Given the description of an element on the screen output the (x, y) to click on. 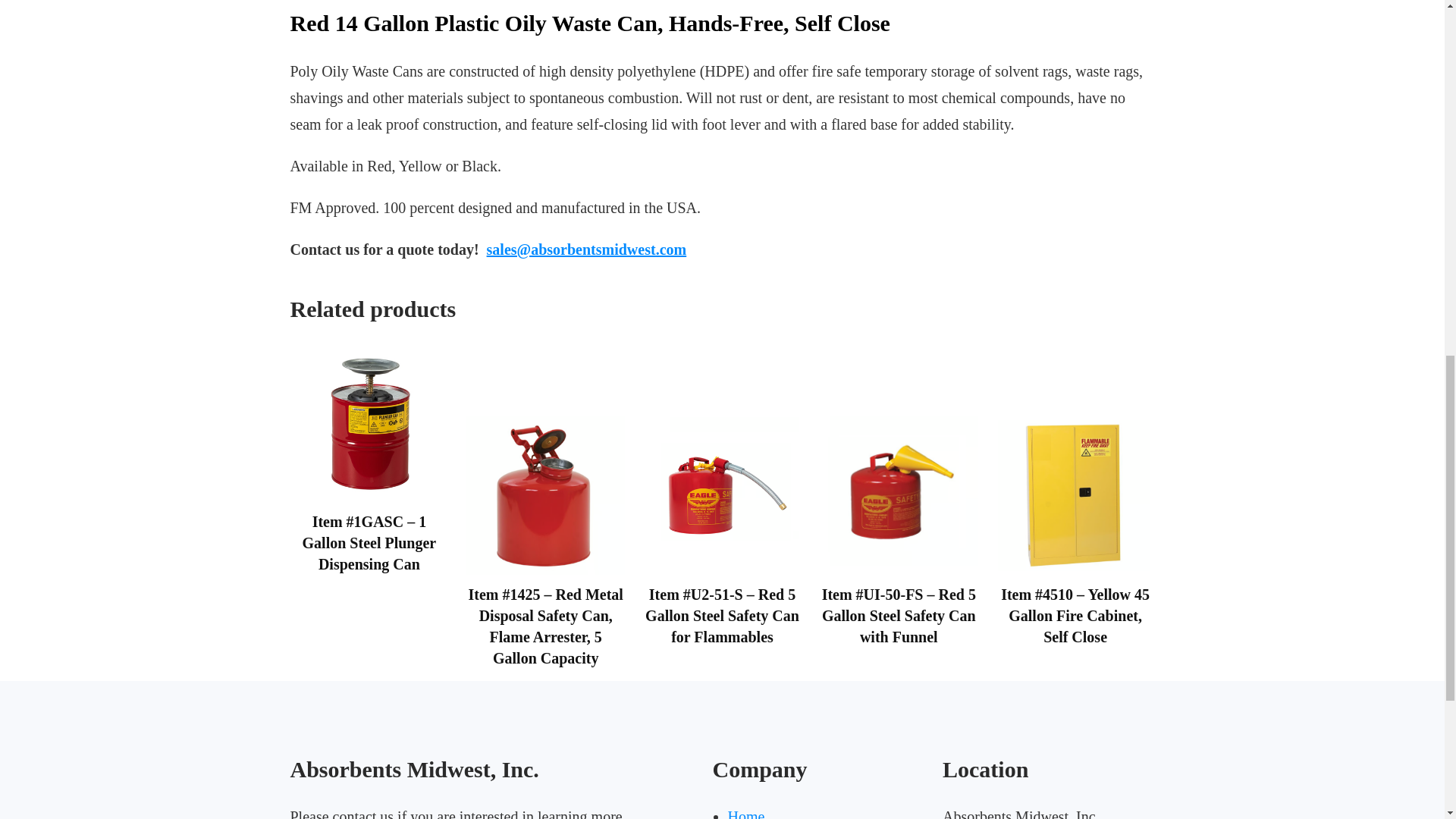
Home (746, 813)
